Given the description of an element on the screen output the (x, y) to click on. 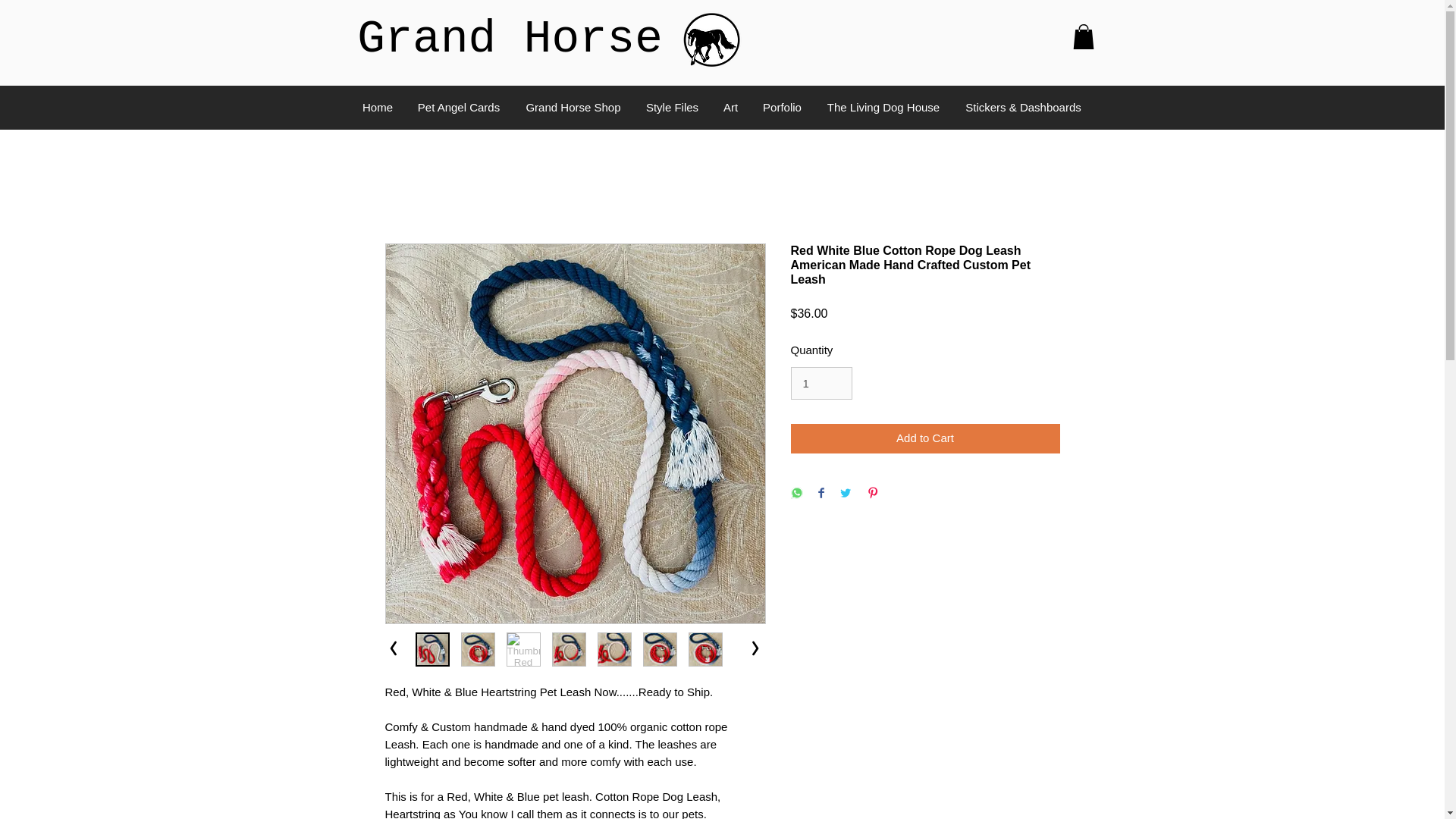
Art (731, 107)
1 (820, 383)
Grand Horse (509, 39)
Home (377, 107)
Pet Angel Cards (458, 107)
Style Files (672, 107)
Grand Horse Shop (572, 107)
54C23A77-76B1-4639-94AD-E1DA9A34F22E.png (710, 41)
